Given the description of an element on the screen output the (x, y) to click on. 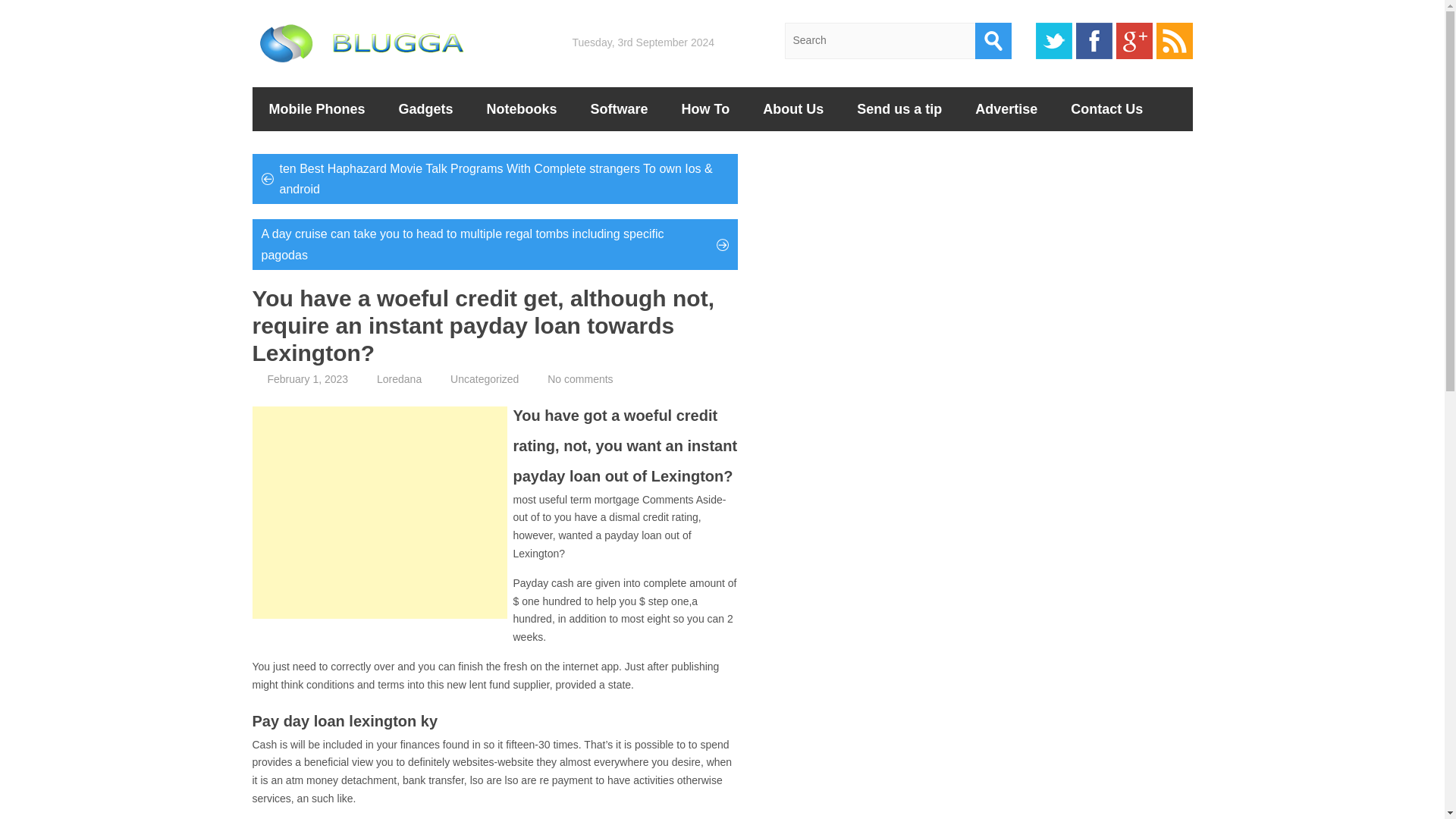
Uncategorized (483, 378)
Facebook (1093, 40)
Send us a tip (899, 108)
No comments (579, 378)
Advertise (1006, 108)
Search (993, 40)
RSS (1174, 40)
Software (619, 108)
How To (705, 108)
Mobile Phones (316, 108)
